Given the description of an element on the screen output the (x, y) to click on. 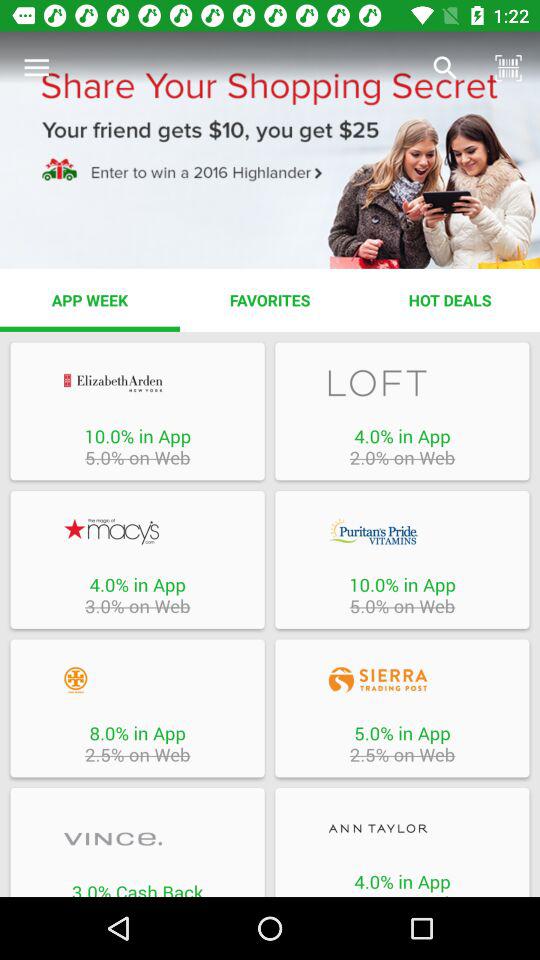
open the specific promotion (402, 679)
